Given the description of an element on the screen output the (x, y) to click on. 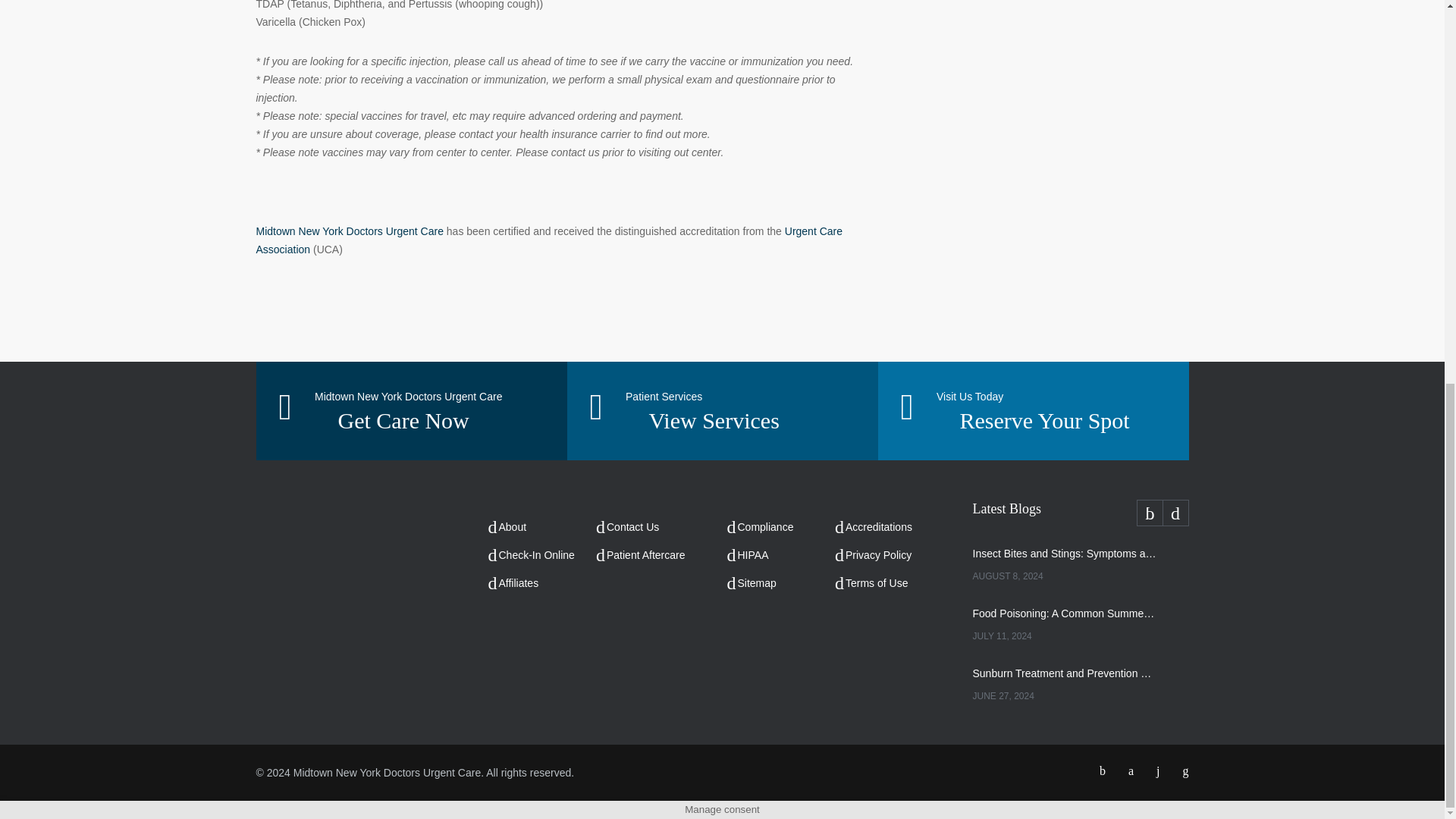
June 27, 2024 (1064, 695)
July 11, 2024 (1064, 636)
Latest Blogs (1080, 511)
Insect Bites and Stings: Symptoms and Treatment (1064, 553)
Sunburn Treatment and Prevention Facts (1064, 673)
Food Poisoning: A Common Summer Ailment (1064, 613)
August 8, 2024 (1064, 576)
